Given the description of an element on the screen output the (x, y) to click on. 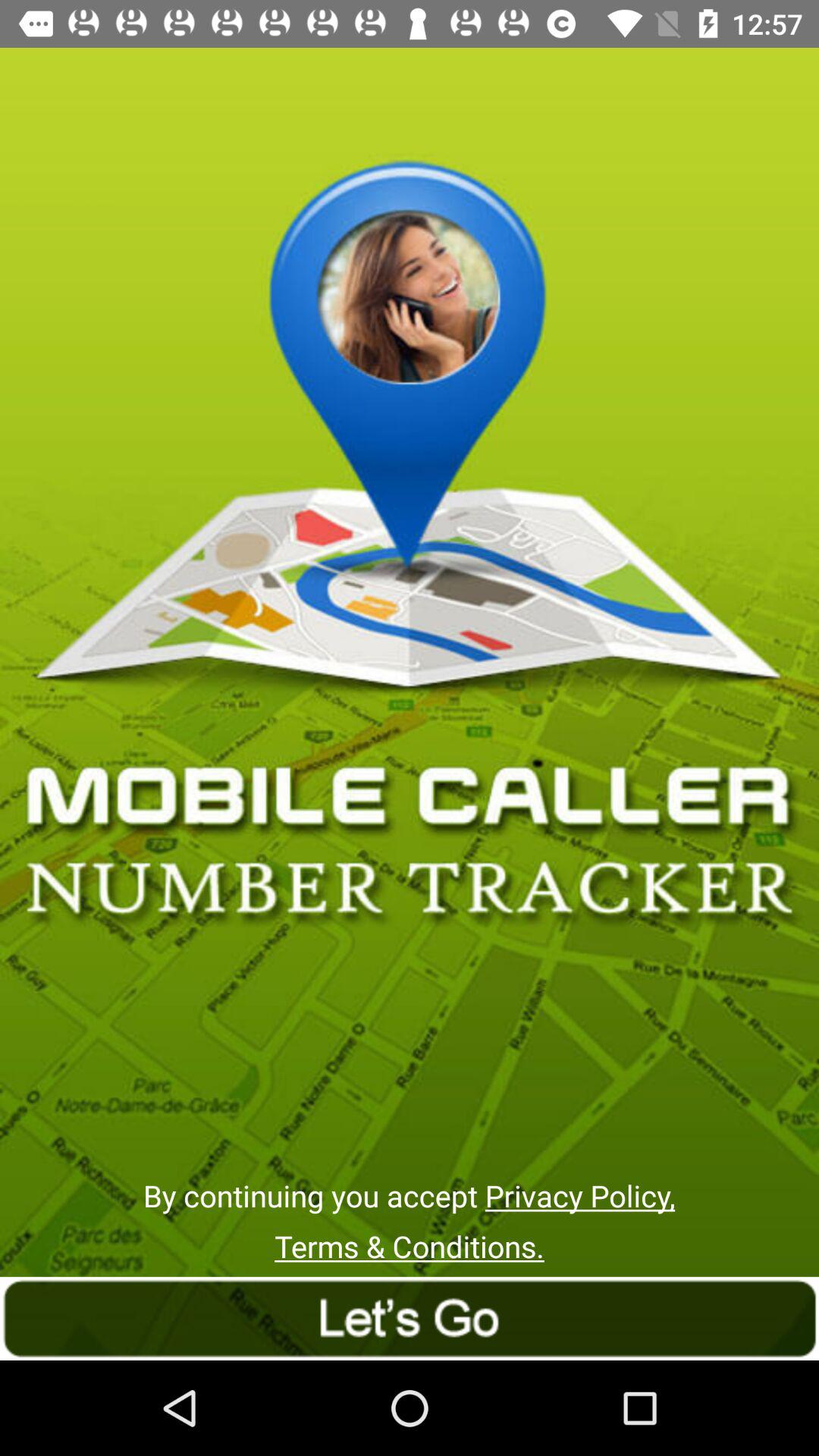
click the terms & conditions. icon (409, 1246)
